Given the description of an element on the screen output the (x, y) to click on. 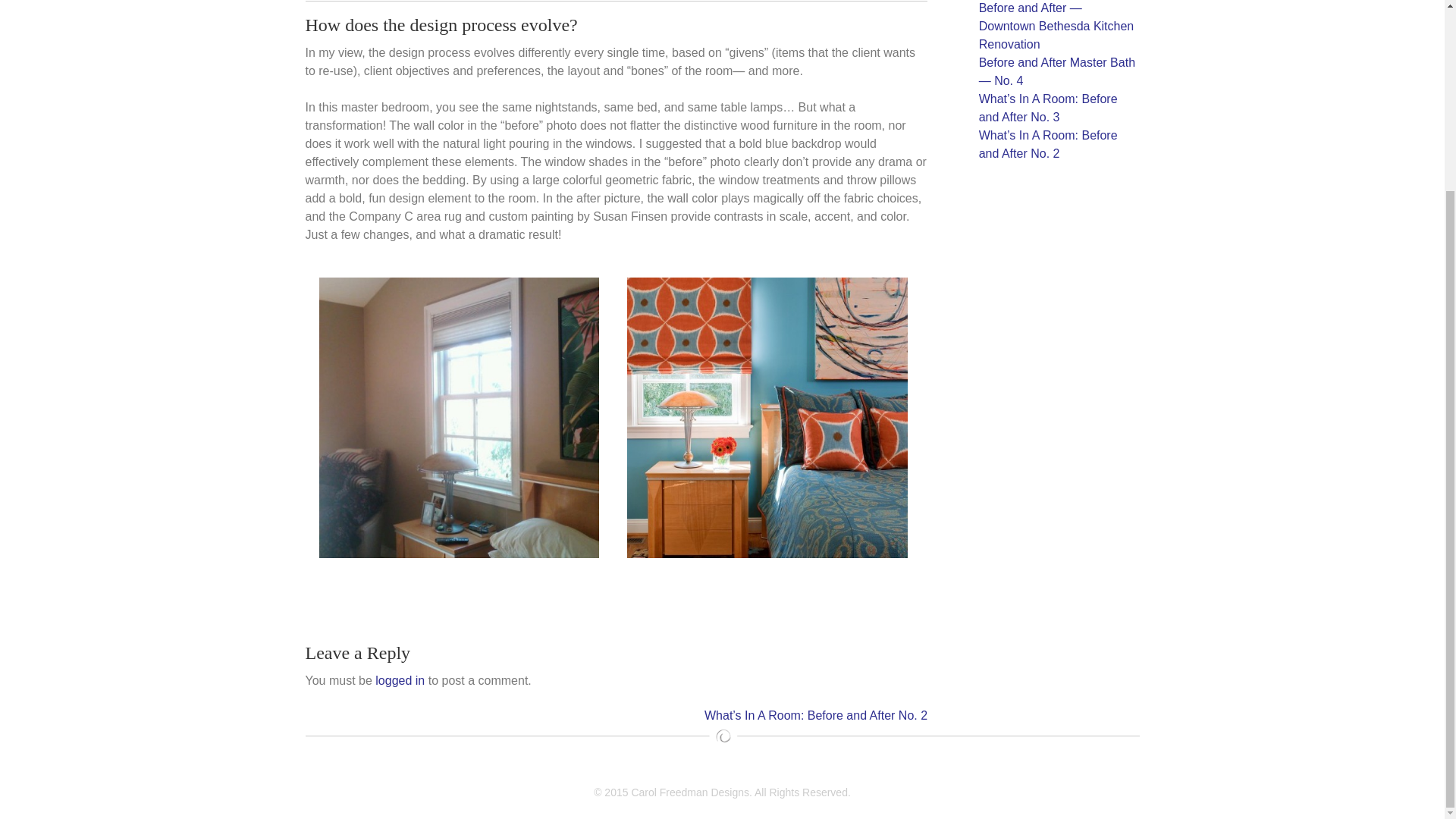
logged in (400, 680)
